Given the description of an element on the screen output the (x, y) to click on. 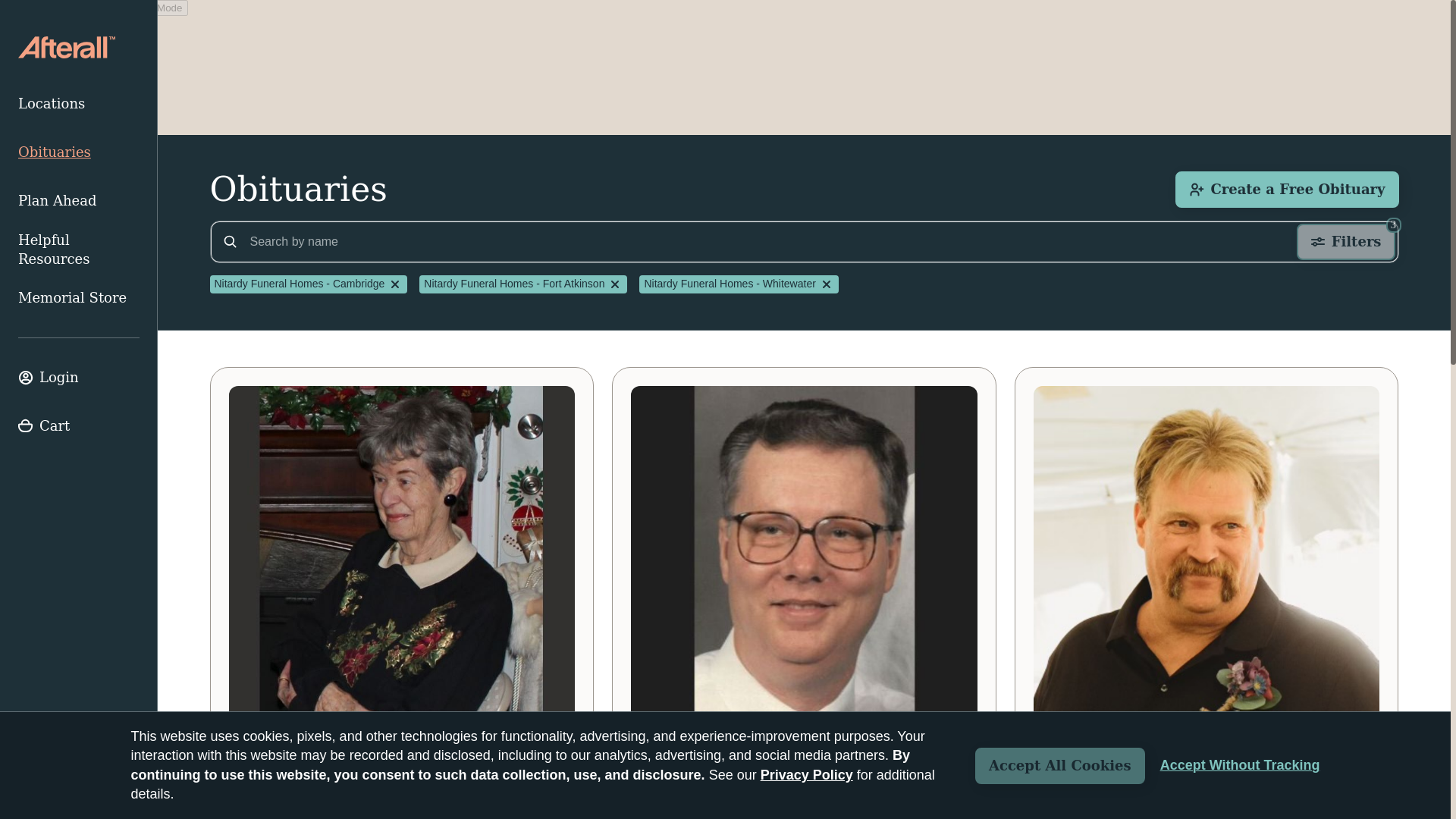
Memorial Store (78, 297)
Obituaries (78, 151)
Cart (78, 426)
Accept All Cookies (1059, 765)
View your cart (78, 426)
Helpful Resources (78, 249)
Login (78, 377)
Privacy Policy (806, 774)
Locations (78, 103)
Create a Free Obituary (1285, 189)
Plan Ahead (1345, 241)
Accept Without Tracking (78, 200)
Sign In (1240, 765)
Home page (78, 377)
